Given the description of an element on the screen output the (x, y) to click on. 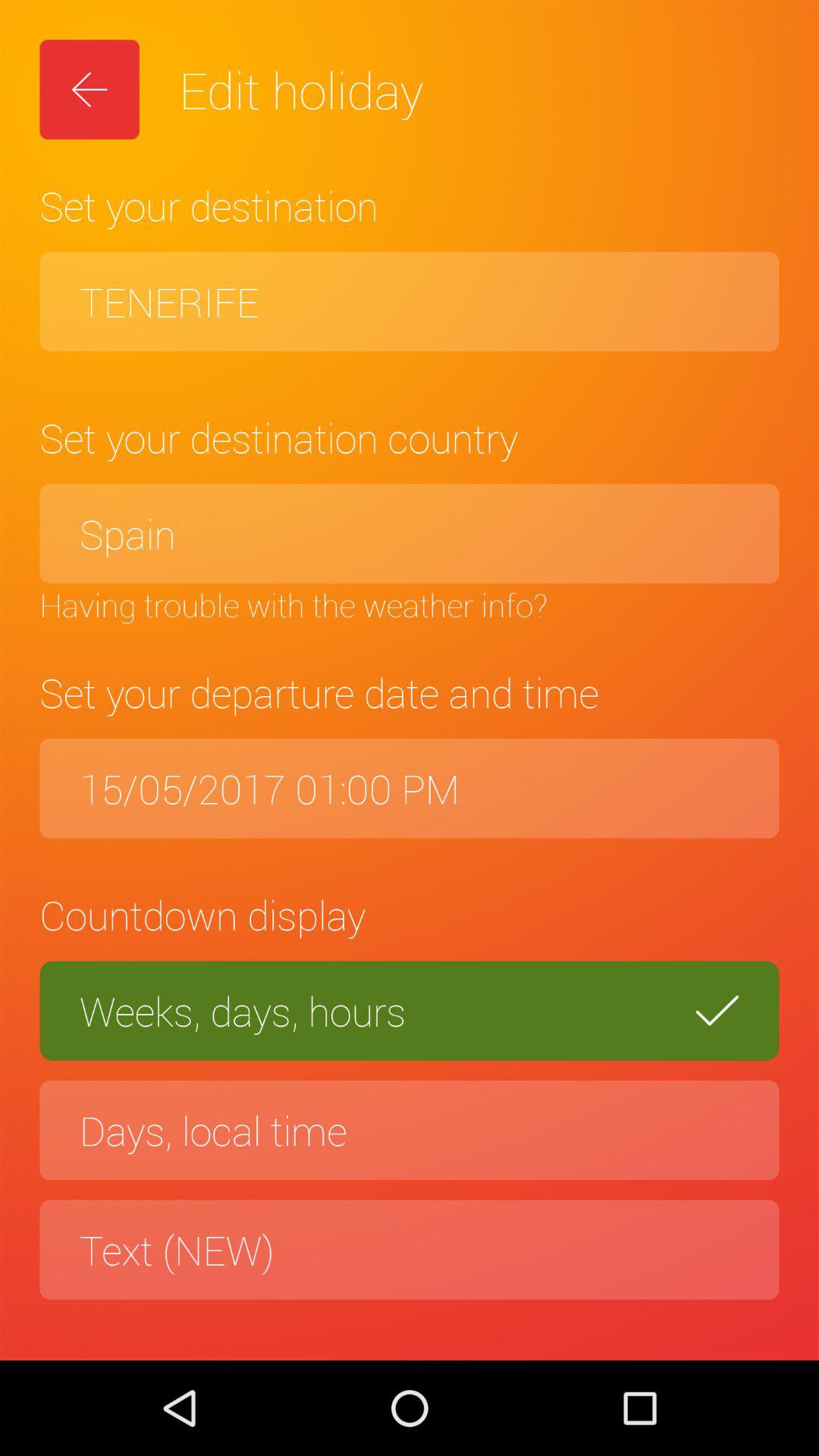
turn off icon above the set your destination icon (89, 89)
